Given the description of an element on the screen output the (x, y) to click on. 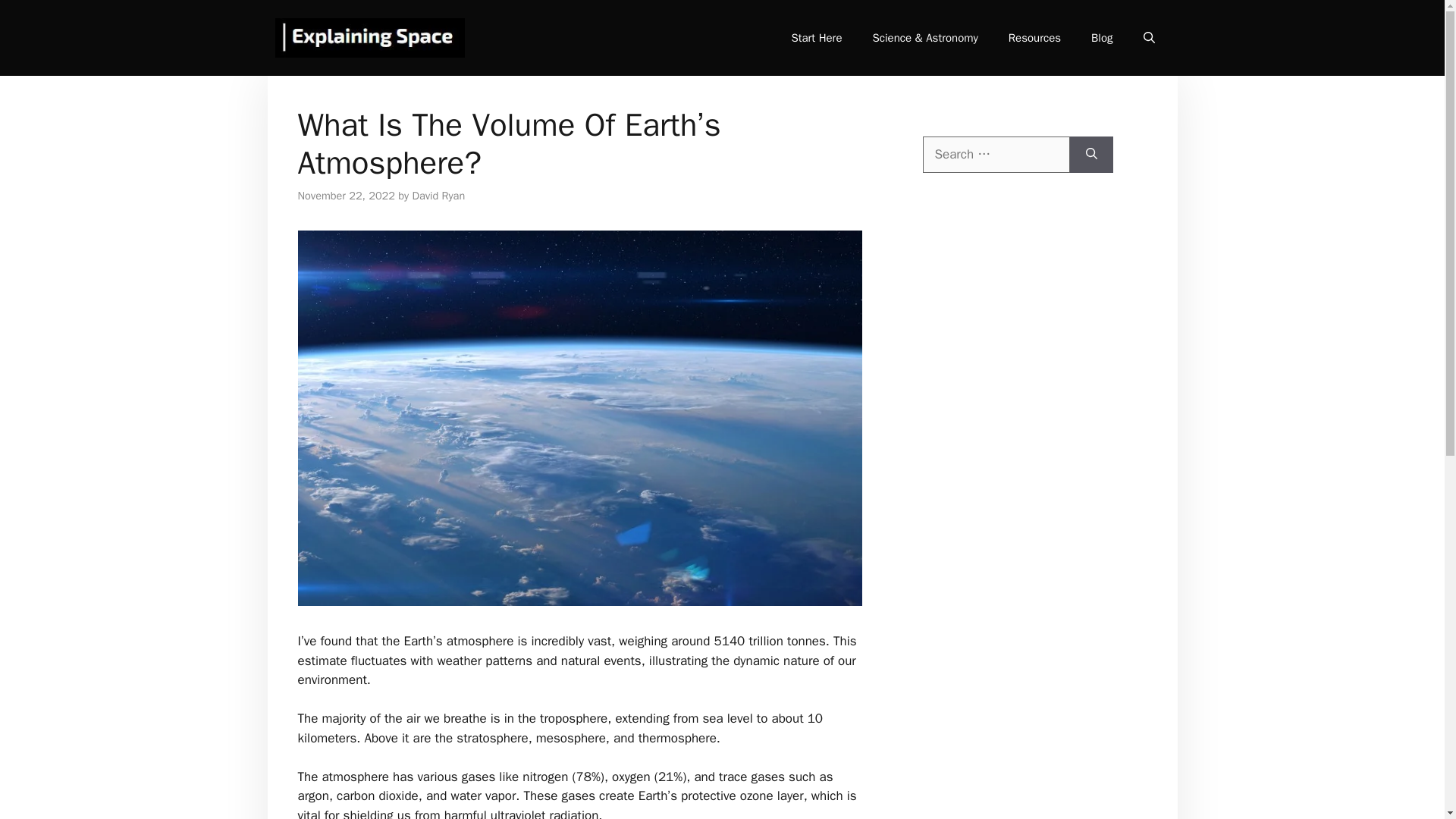
Search for: (994, 154)
David Ryan (438, 195)
Blog (1100, 37)
Start Here (816, 37)
Resources (1033, 37)
View all posts by David Ryan (438, 195)
